Given the description of an element on the screen output the (x, y) to click on. 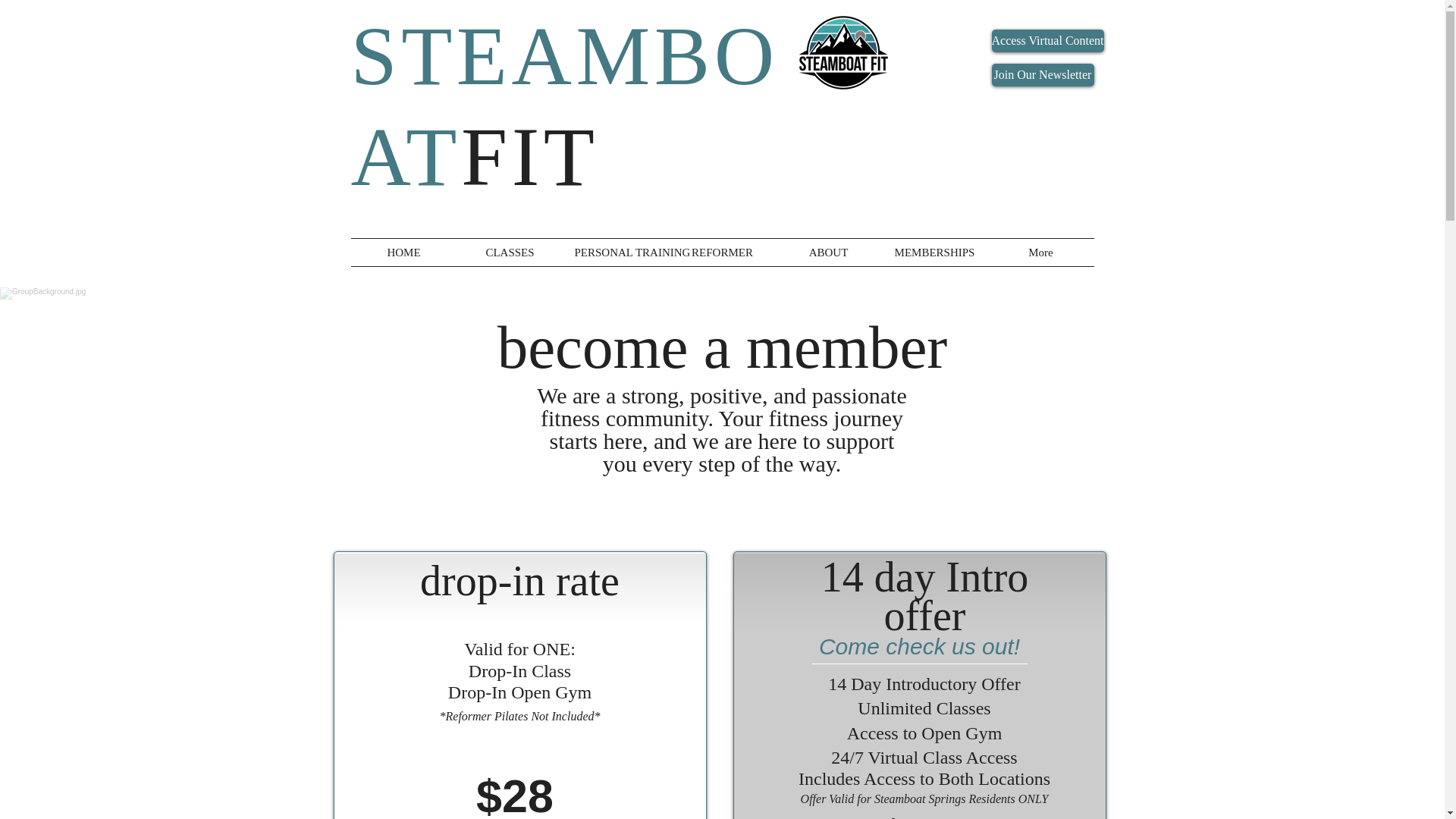
ABOUT (827, 252)
HOME (403, 252)
PERSONAL TRAINING (615, 252)
REFORMER (721, 252)
CLASSES (509, 252)
STEAMBOATFIT (563, 106)
Join Our Newsletter (1042, 74)
Access Virtual Content (1047, 40)
MEMBERSHIPS (933, 252)
